Given the description of an element on the screen output the (x, y) to click on. 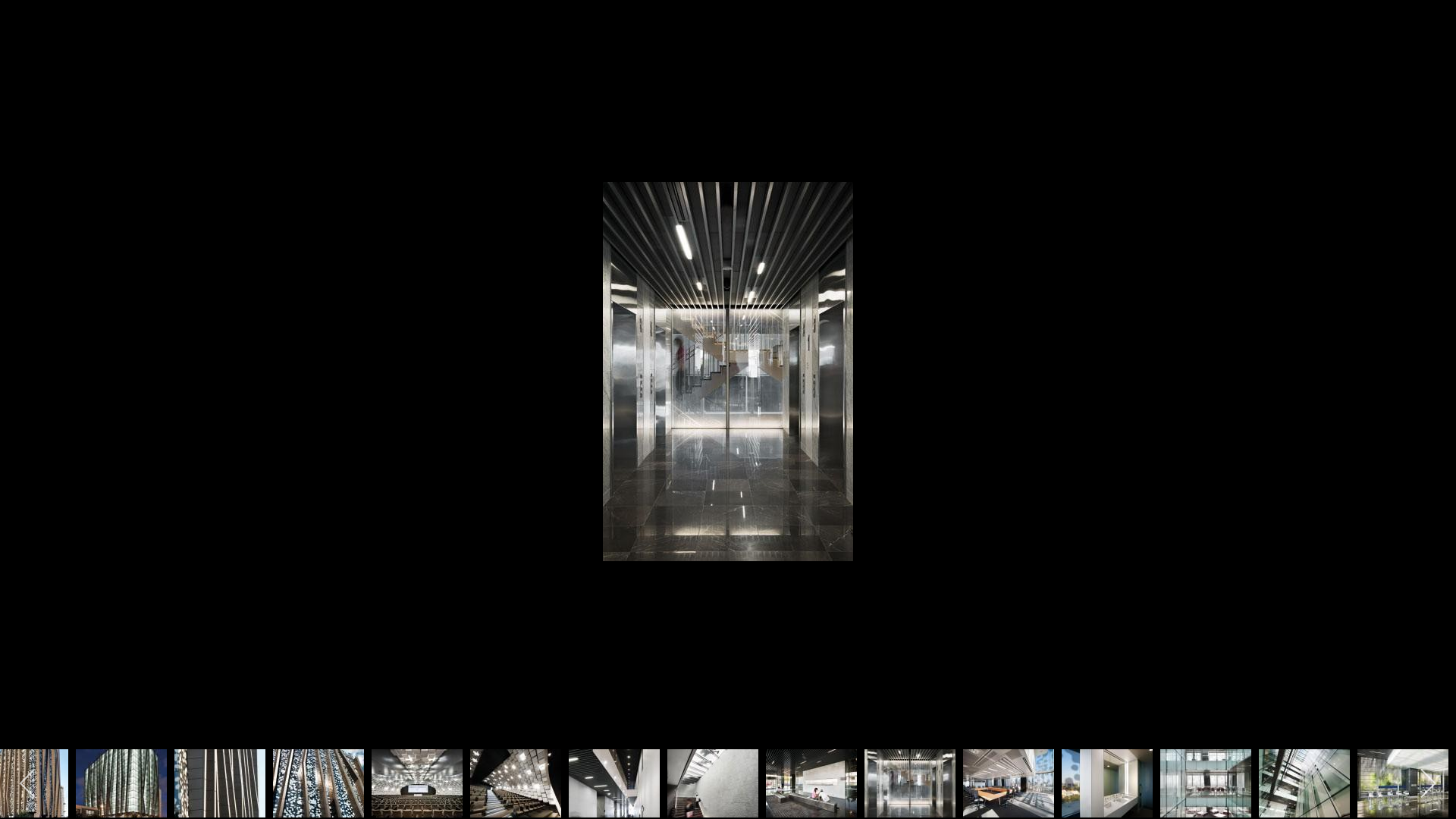
090116 D3X 1190cmyk Element type: hover (613, 783)
ABOUT Element type: text (1236, 24)
090116 D3X 1662cmyk Element type: hover (1205, 783)
090116 D3X 1035cmyk Element type: hover (515, 783)
Workplace Element type: text (382, 230)
EDUCATION & PUBLIC Element type: text (1011, 24)
HOSPITALITY & RETAIL Element type: text (735, 24)
090116 D3X 2044cmyk Element type: hover (1075, 618)
090116 D3X 0955cmyk Element type: hover (416, 783)
DATA CENTRES Element type: text (875, 24)
RESIDENTIAL Element type: text (1143, 24)
HOME Element type: text (511, 24)
090116 D3X 1729cmyk Element type: hover (1303, 783)
090116 D3X 8462cmyk Element type: hover (120, 783)
090116 D3X 1387cmyk Element type: hover (909, 783)
090116 D3X 1524cmyk Element type: hover (1008, 783)
090116 D3X 1312cmyk Element type: hover (712, 783)
090116 D3X 1342cmyk Element type: hover (810, 783)
090116 D3A 3832cmyk Element type: hover (219, 783)
090116 D3X 2033Bcmyk Element type: hover (819, 618)
090116 D3X 0495cmyk Element type: hover (318, 783)
WORKPLACE Element type: text (601, 24)
Home Element type: text (308, 230)
090116 D3X 1788cmyk Element type: hover (467, 618)
090116 D3X 1762cmyk Element type: hover (1402, 783)
090116 D3X 1640cmyk Element type: hover (1106, 783)
